Given the description of an element on the screen output the (x, y) to click on. 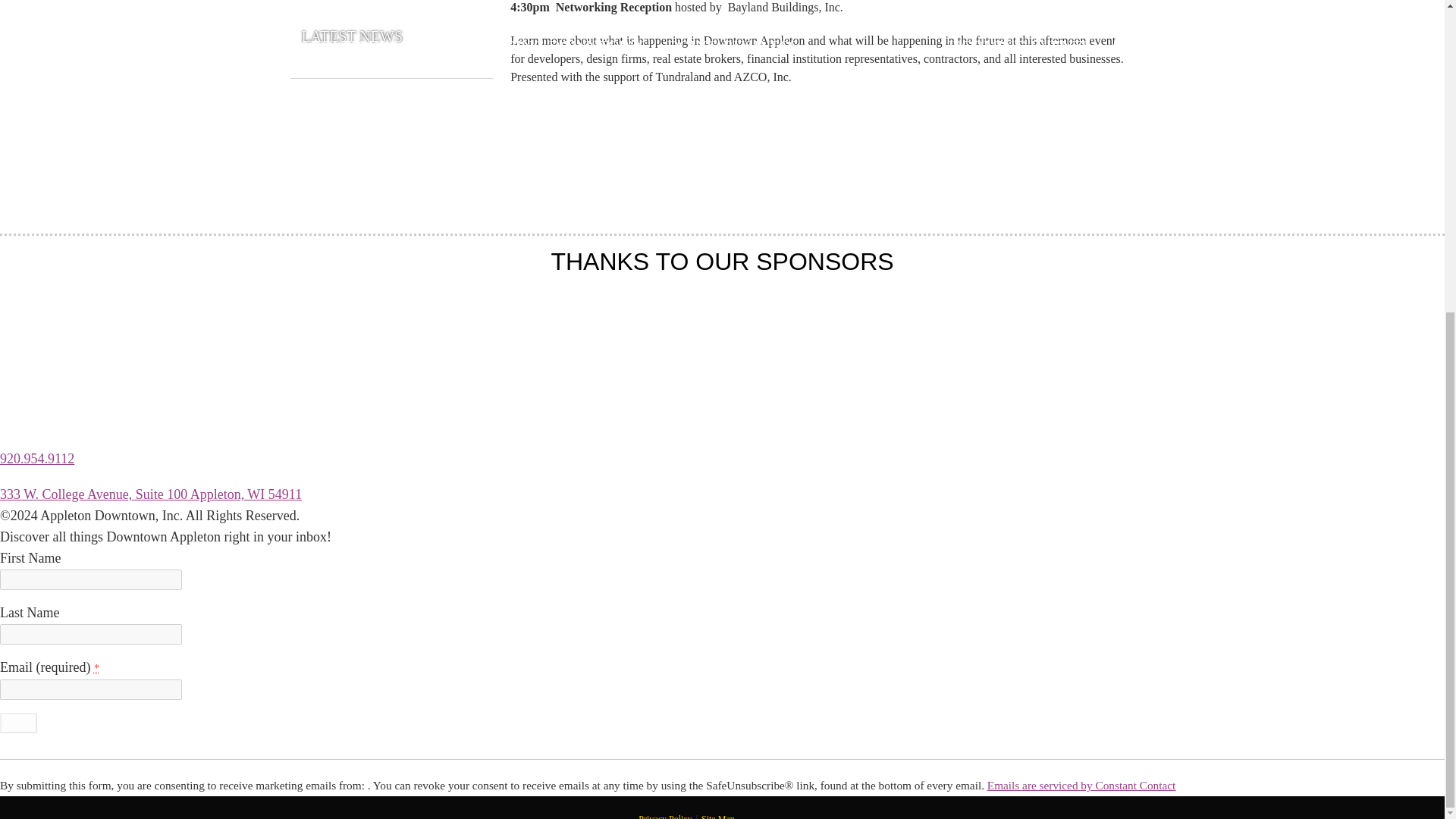
GO! (18, 722)
